Given the description of an element on the screen output the (x, y) to click on. 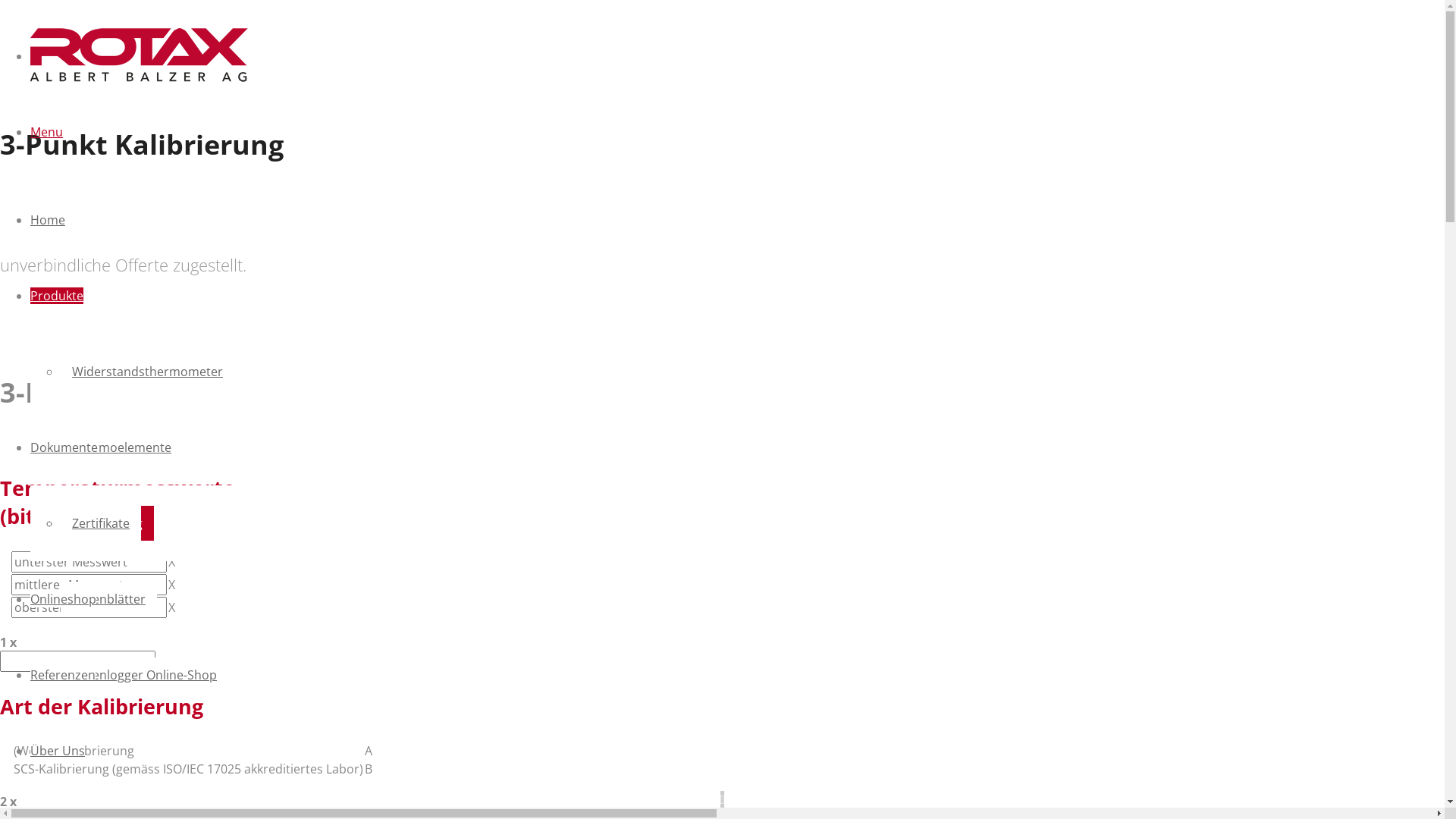
Thermoelemente Element type: text (121, 446)
Kalibrierung Element type: text (106, 522)
Home Element type: text (47, 219)
Datenlogger Online-Shop Element type: text (144, 674)
Menu Element type: text (46, 131)
Zertifikate Element type: text (100, 522)
Widerstandsthermometer Element type: text (147, 371)
Referenzen Element type: text (62, 674)
Produkte Element type: text (56, 295)
Dokumente Element type: text (63, 447)
Onlineshop Element type: text (63, 598)
